Given the description of an element on the screen output the (x, y) to click on. 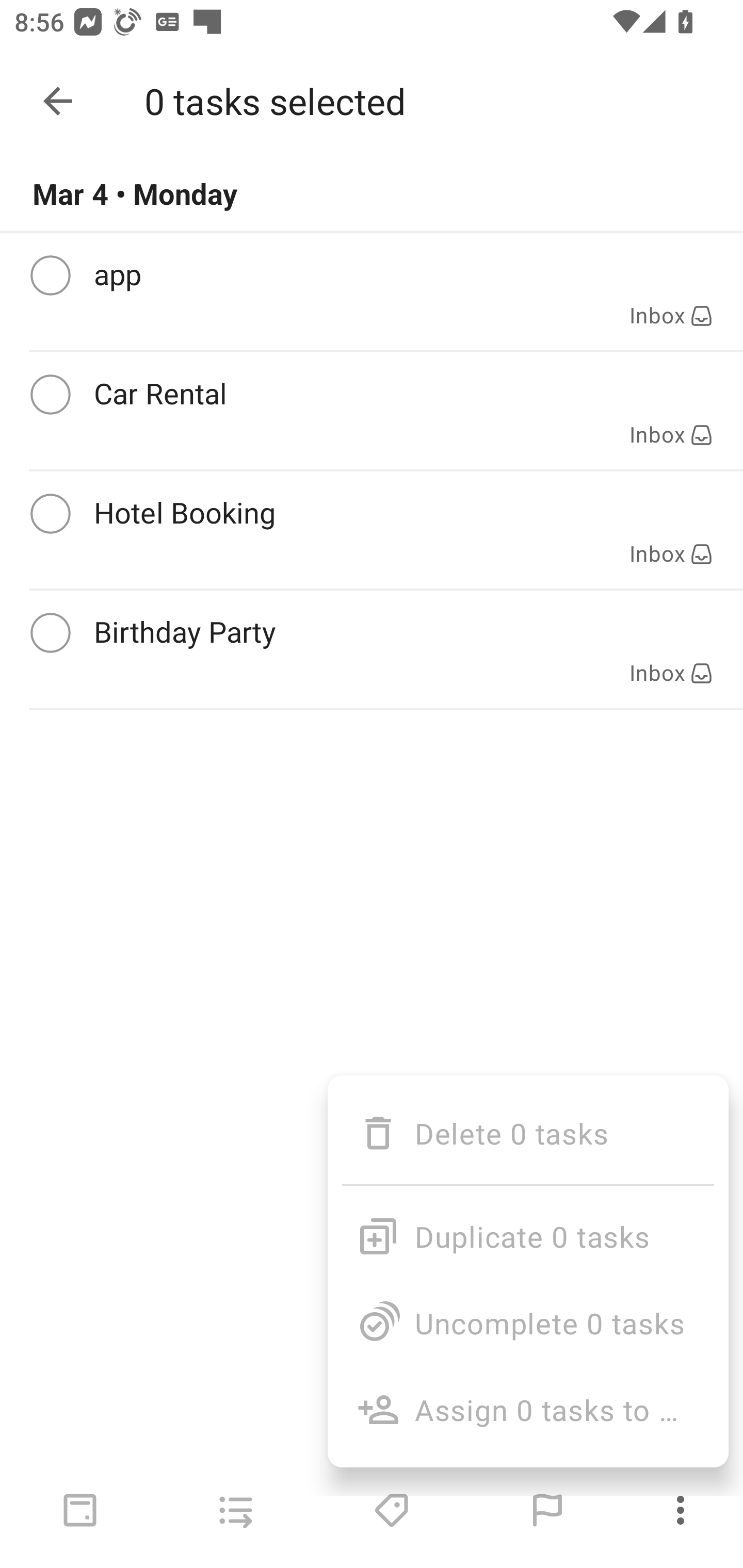
Delete 0 tasks (527, 1132)
Duplicate 0 tasks (527, 1227)
Uncomplete 0 tasks (527, 1322)
Assign 0 tasks to … (527, 1409)
